Given the description of an element on the screen output the (x, y) to click on. 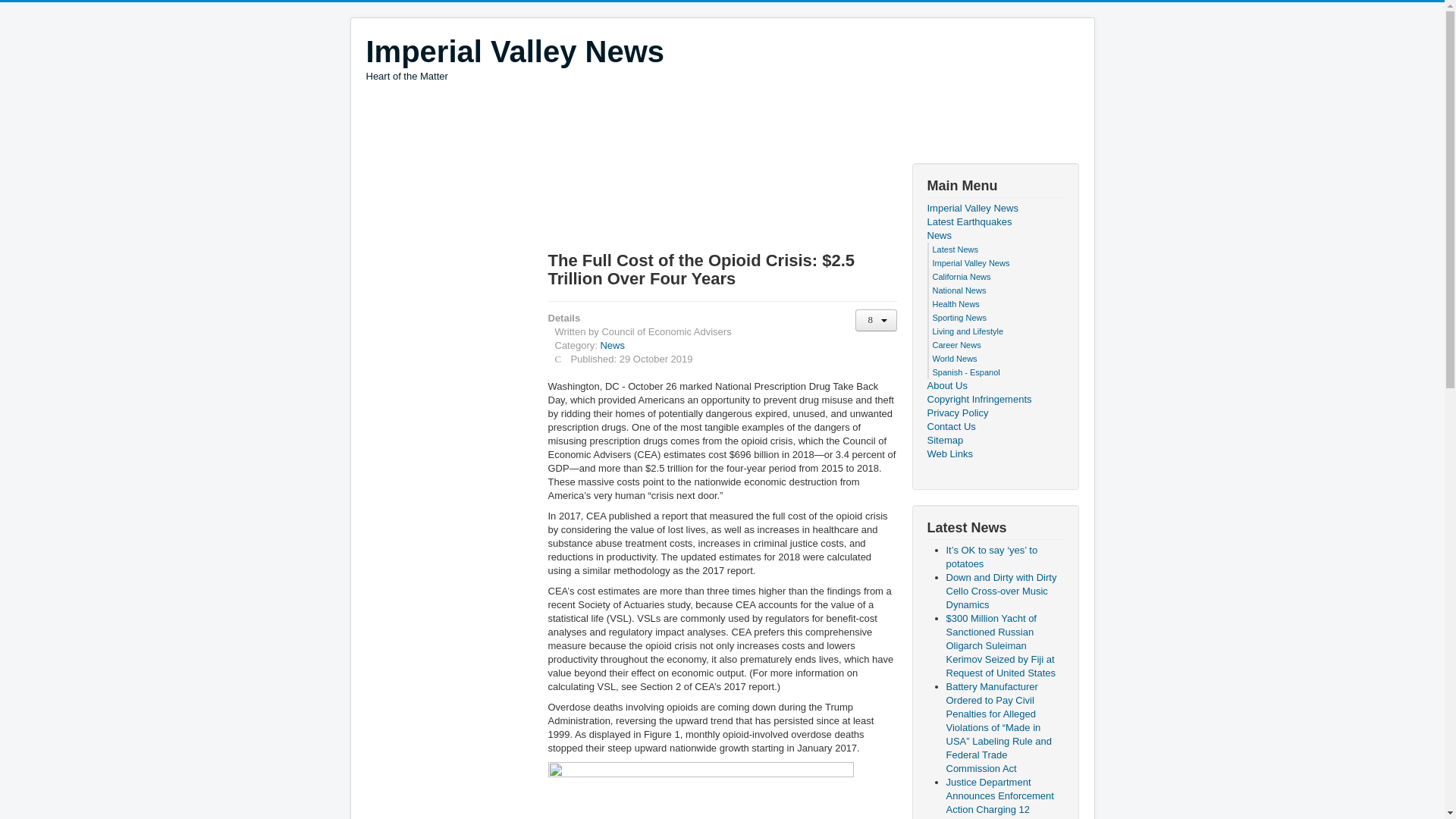
News (994, 235)
About Us (994, 386)
California News (962, 276)
Sitemap (994, 440)
Sporting News (960, 317)
Imperial Valley News (514, 51)
Career News (957, 344)
World News (954, 358)
News (514, 58)
Advertisement (611, 345)
Imperial Valley News (641, 124)
Web Links (971, 262)
Privacy Policy (994, 454)
Health News (994, 413)
